Given the description of an element on the screen output the (x, y) to click on. 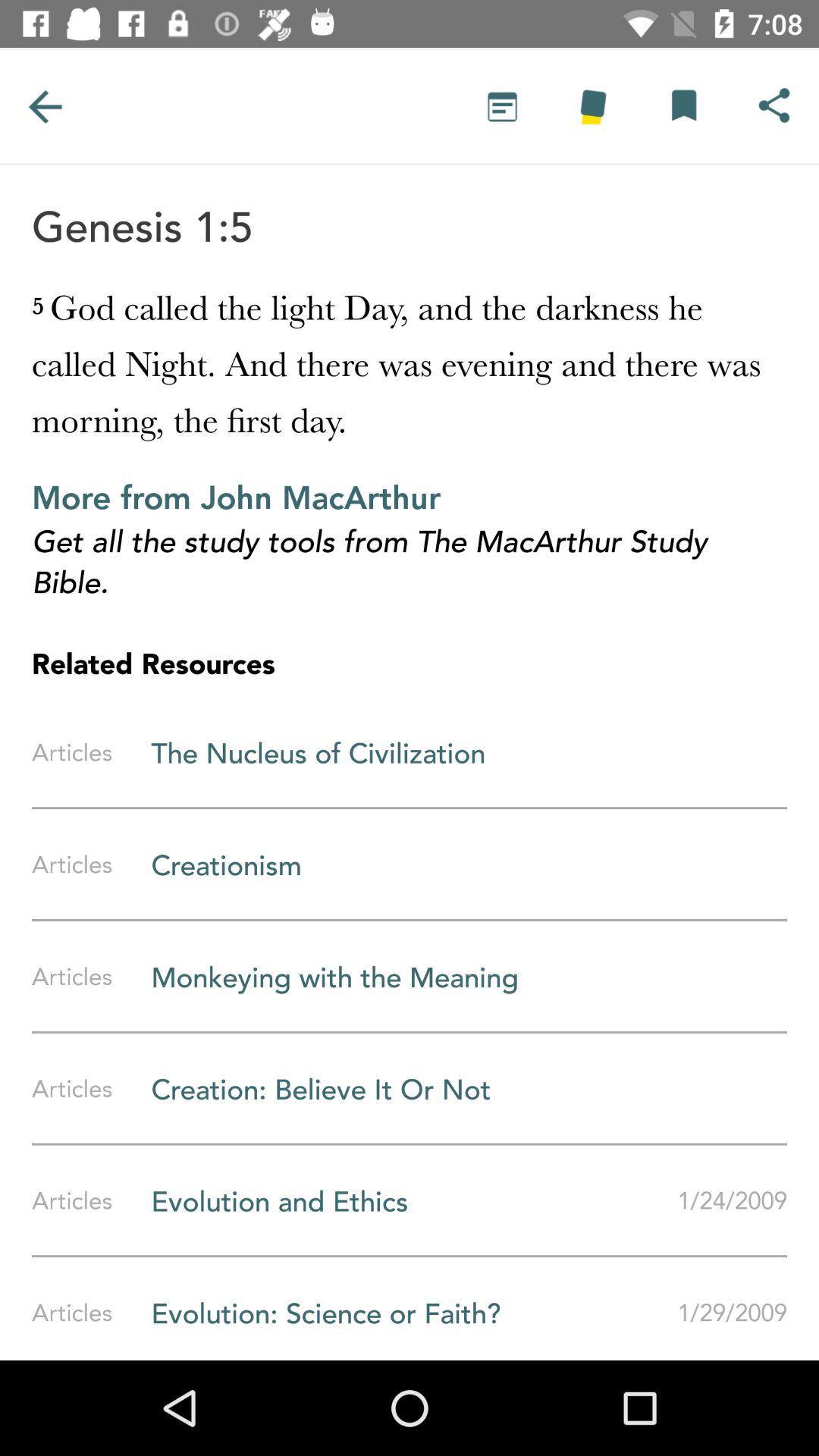
go back (45, 106)
